Given the description of an element on the screen output the (x, y) to click on. 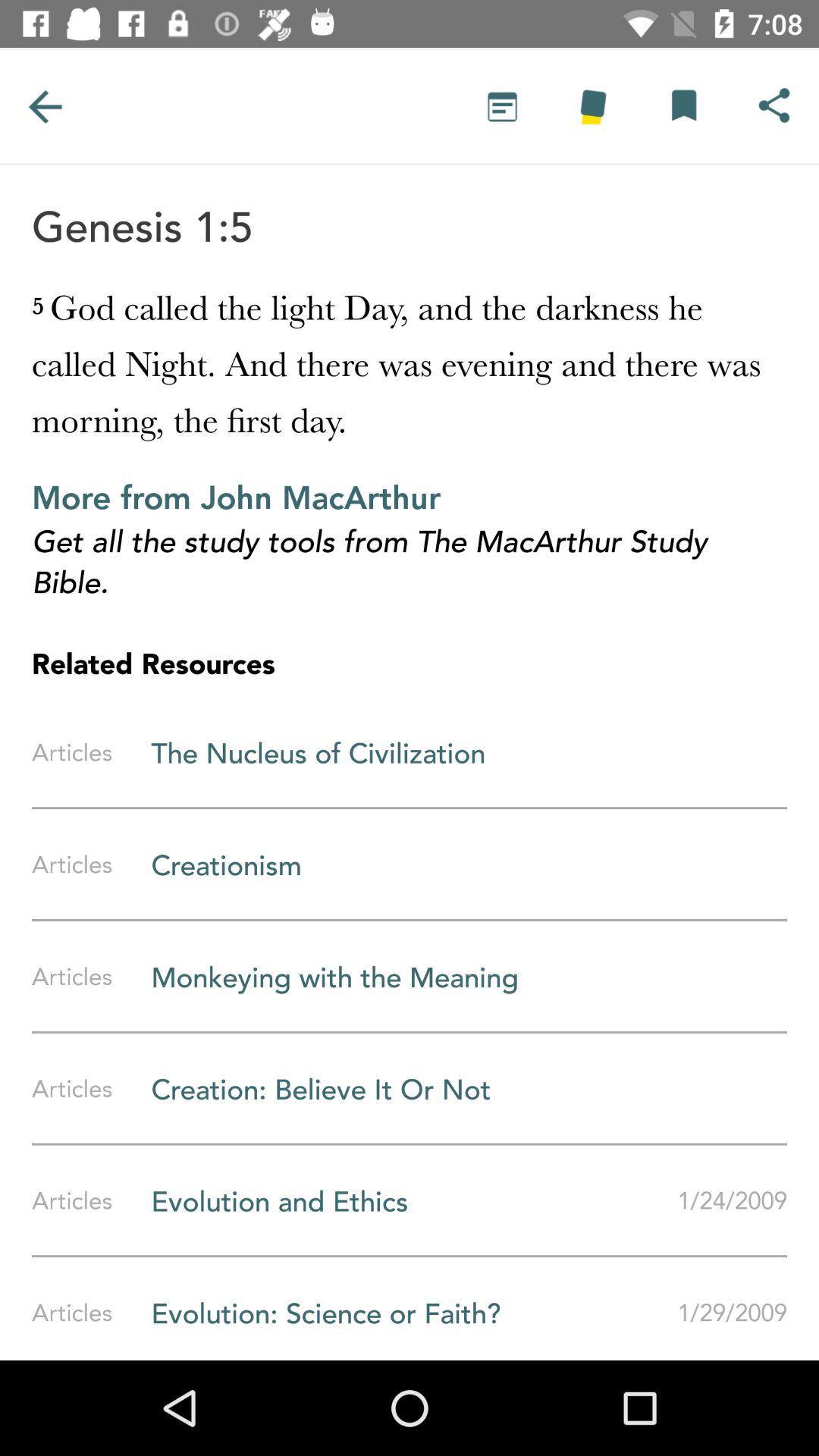
go back (45, 106)
